Given the description of an element on the screen output the (x, y) to click on. 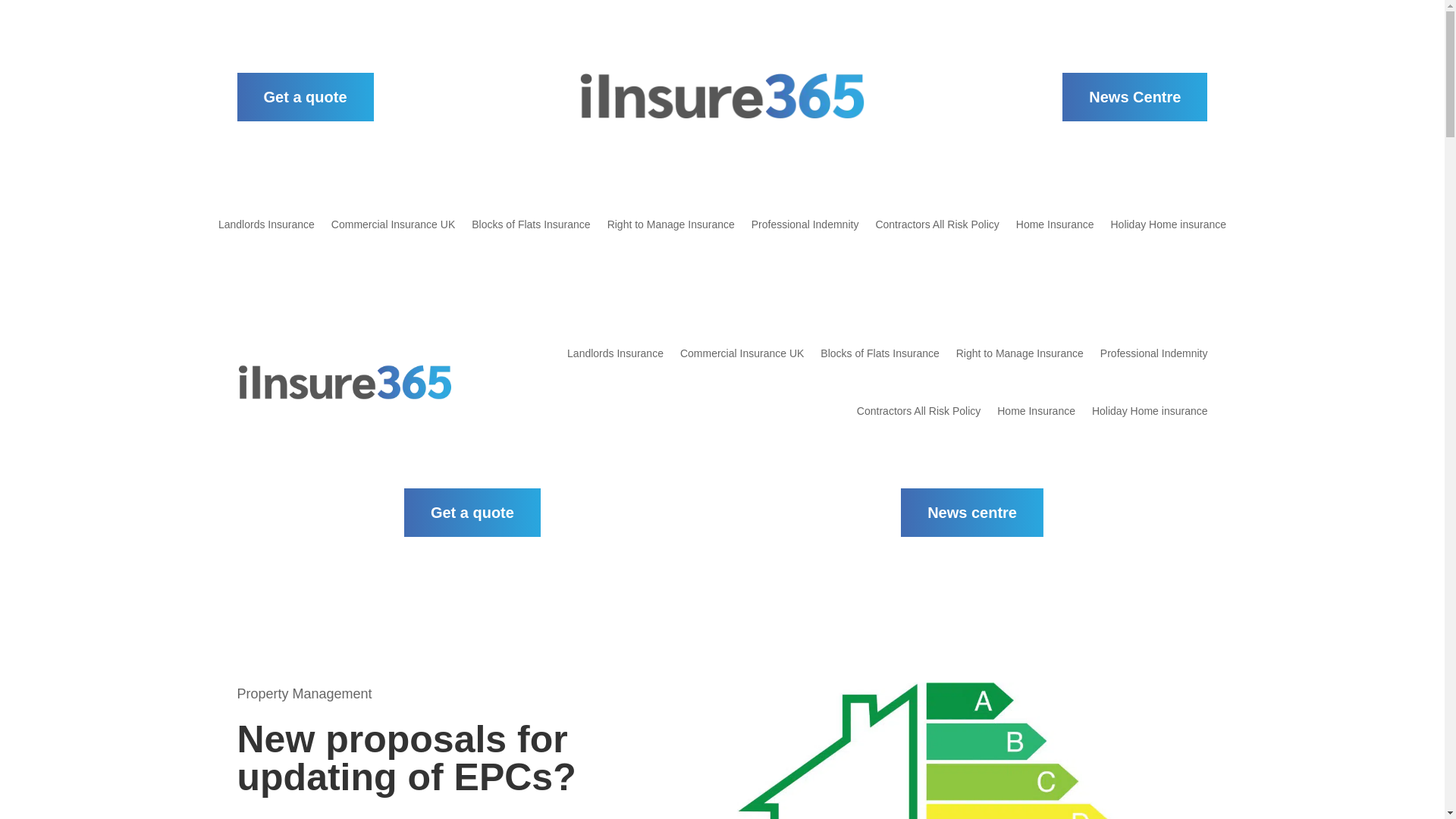
Right to Manage Insurance (1019, 353)
Commercial Insurance UK (741, 353)
Right to Manage Insurance (671, 235)
Get a quote (472, 512)
Home Insurance (1055, 235)
Commercial Insurance UK (392, 235)
Blocks of Flats Insurance (880, 353)
Contractors All Risk Policy (936, 235)
Get a quote (303, 96)
Holiday Home insurance (1150, 410)
